Given the description of an element on the screen output the (x, y) to click on. 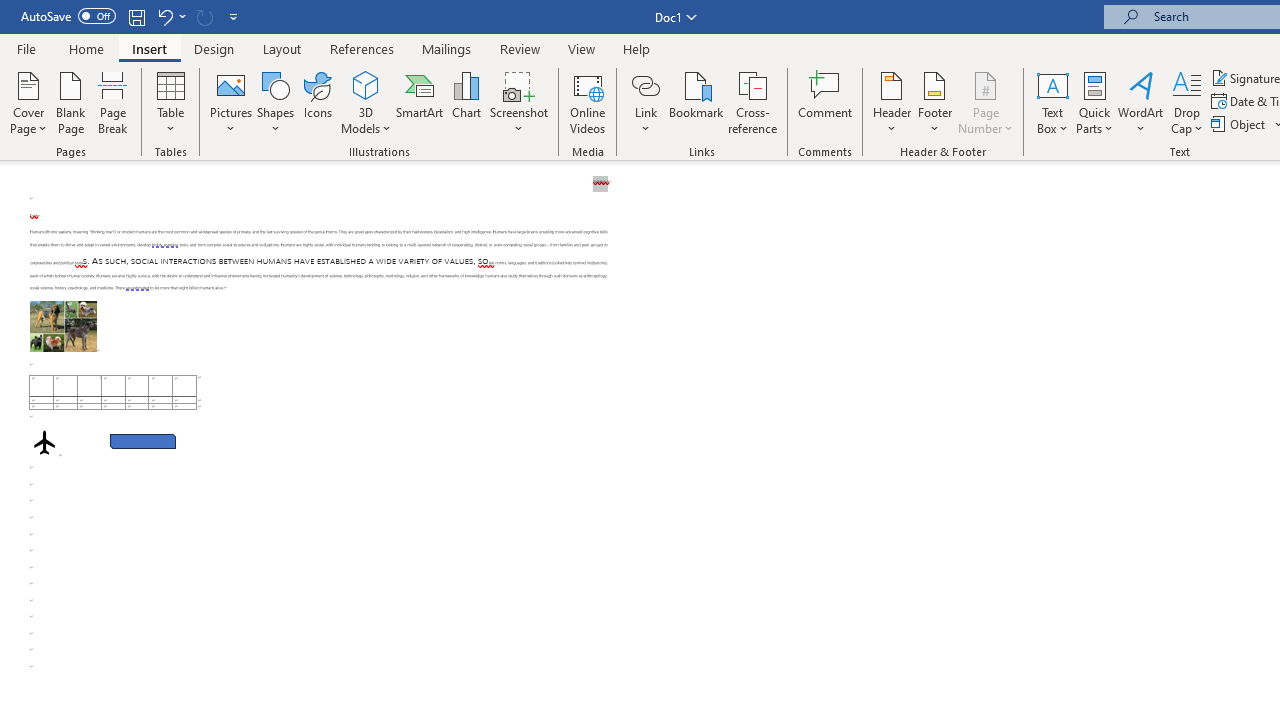
Design (214, 48)
WordArt (1141, 102)
Object... (1240, 124)
Customize Quick Access Toolbar (234, 15)
Home (86, 48)
Cover Page (28, 102)
3D Models (366, 102)
Table (170, 102)
Page Break (113, 102)
Shapes (275, 102)
Blank Page (70, 102)
AutoSave (68, 16)
Text Box (1052, 102)
Can't Repeat (204, 15)
